Given the description of an element on the screen output the (x, y) to click on. 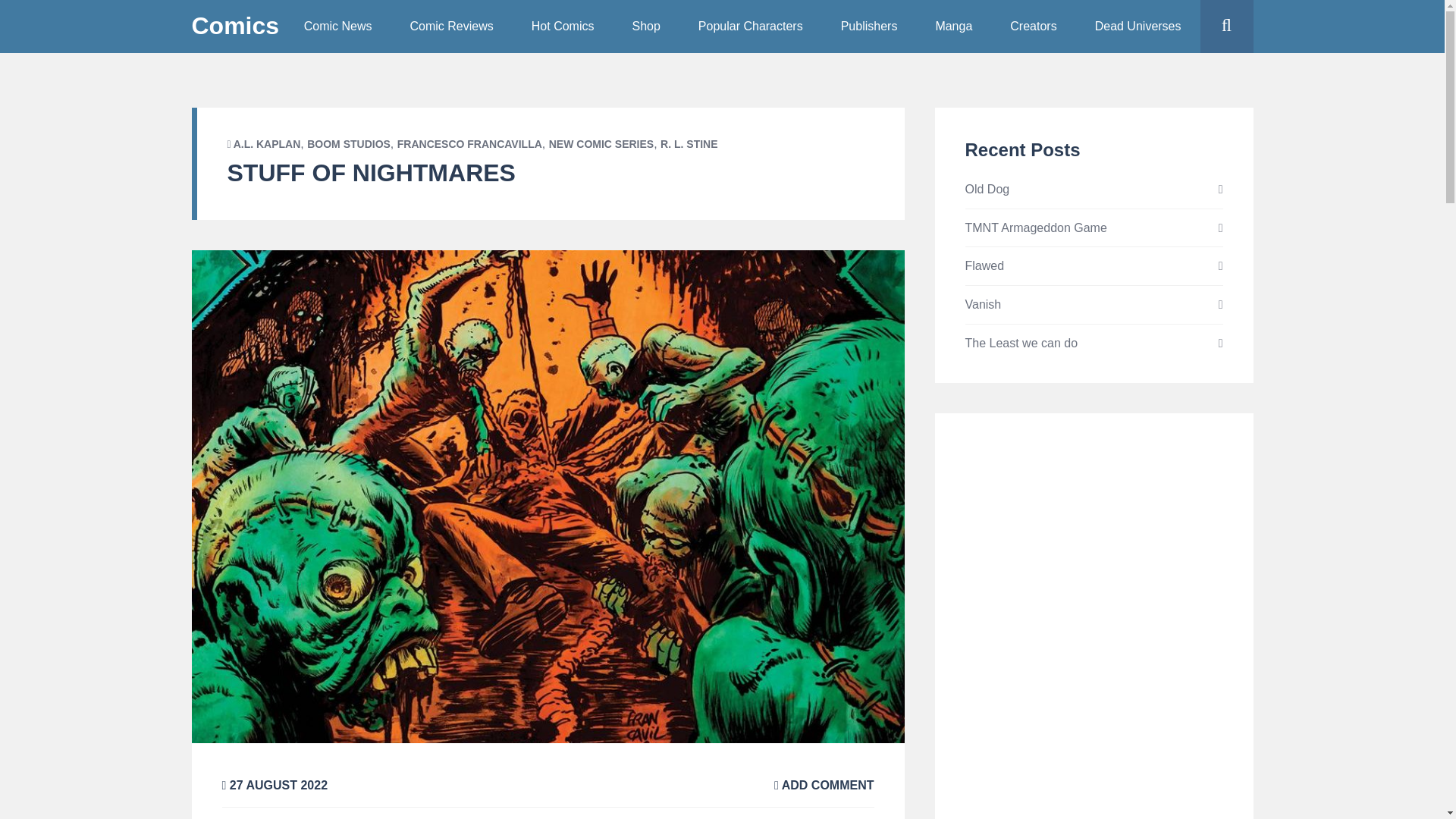
BOOM STUDIOS (348, 143)
Comic News (338, 26)
A.L. KAPLAN (266, 143)
Publishers (869, 26)
NEW COMIC SERIES (600, 143)
Hot Comics (562, 26)
Comics (234, 25)
Popular Characters (750, 26)
FRANCESCO FRANCAVILLA (469, 143)
ADD COMMENT (823, 784)
Comic Reviews (451, 26)
Dead Universes (1137, 26)
Go (1256, 79)
R. L. STINE (689, 143)
